Given the description of an element on the screen output the (x, y) to click on. 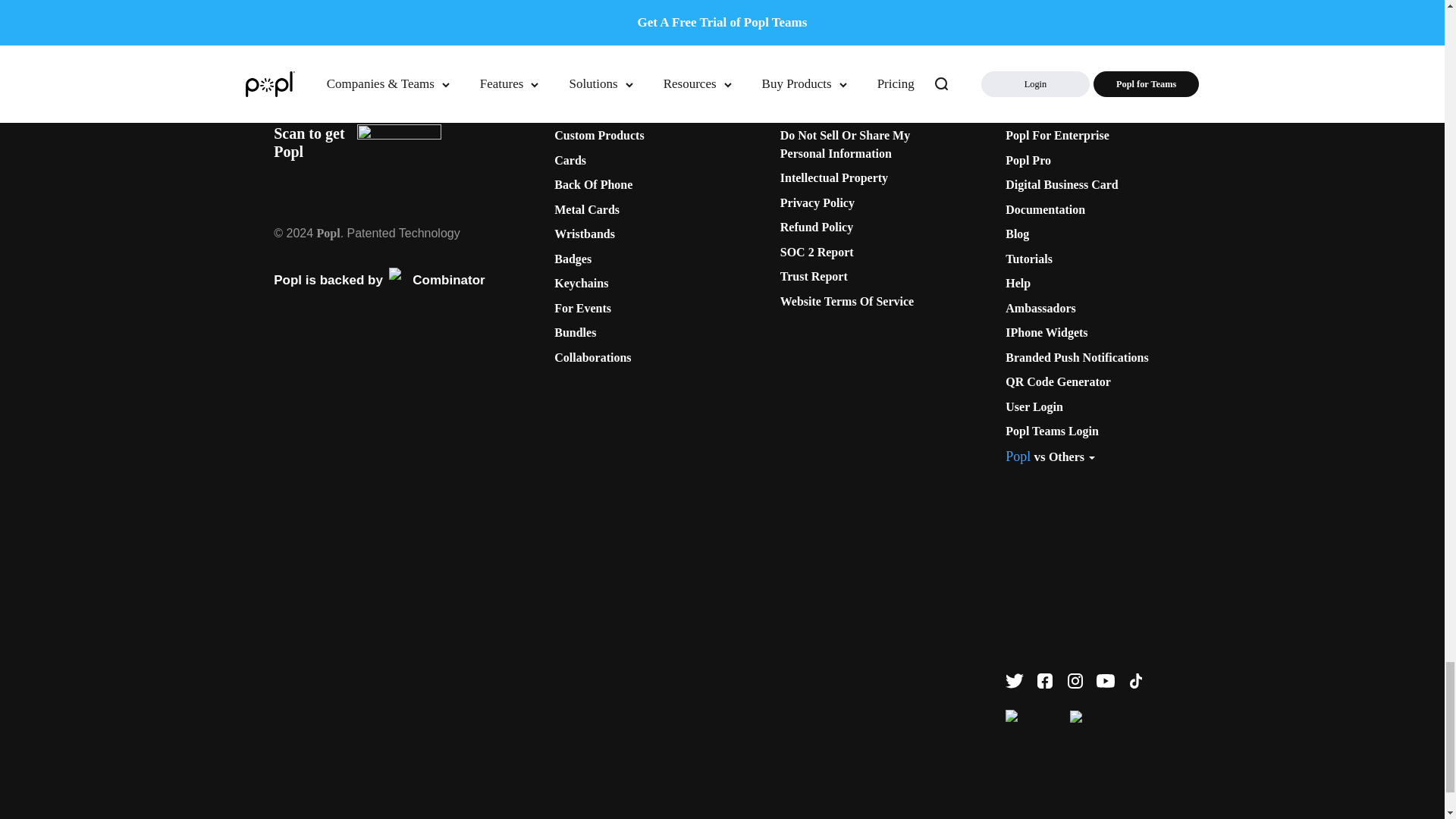
Popl on Facebook (1044, 680)
Popl on YouTube (1105, 680)
Popl on Instagram (1074, 680)
Popl on Twitter (1014, 680)
